Given the description of an element on the screen output the (x, y) to click on. 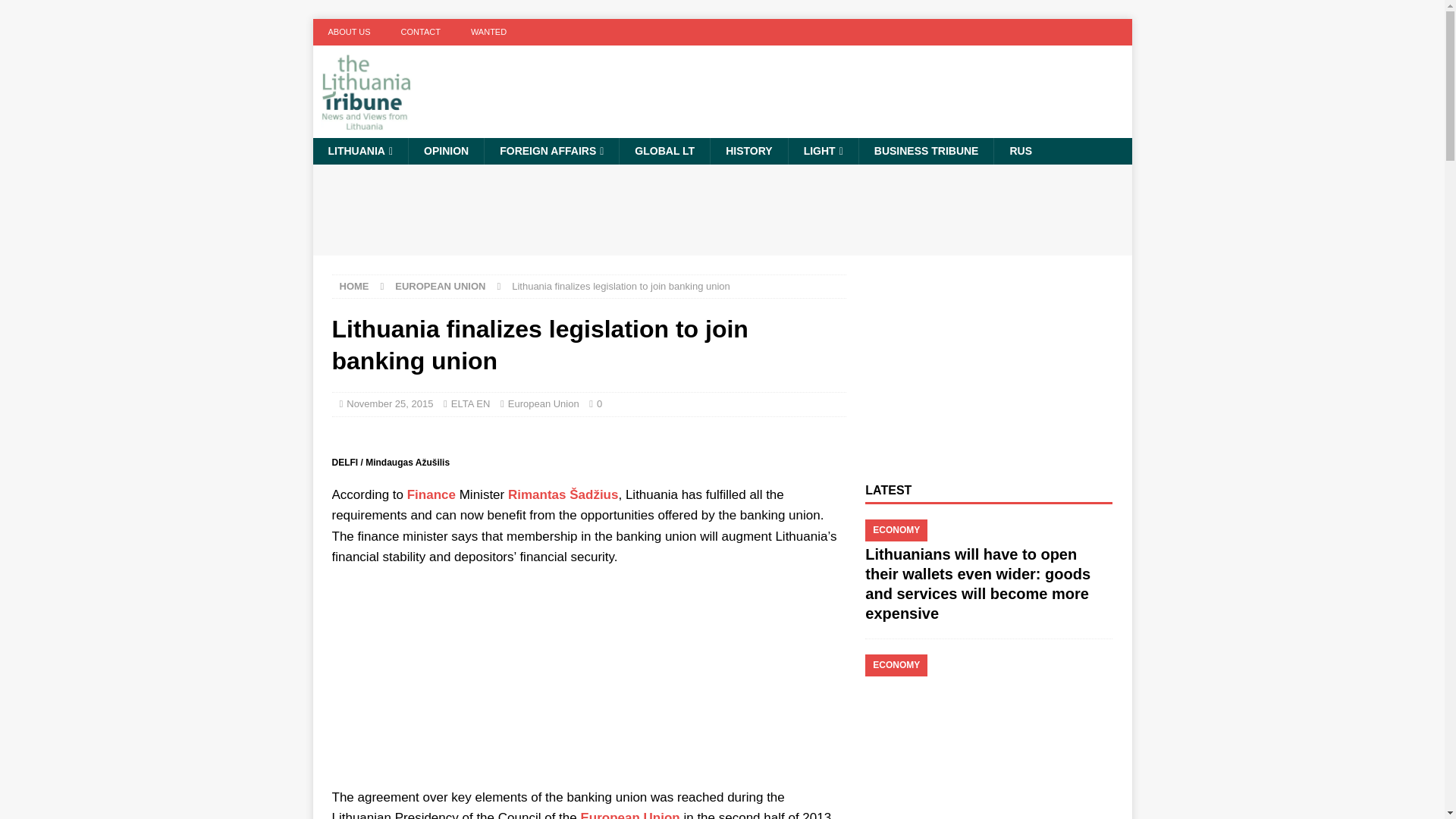
ABOUT US (349, 31)
Finance (431, 494)
European Union (629, 814)
WANTED (488, 31)
LITHUANIA (360, 150)
CONTACT (420, 31)
